Given the description of an element on the screen output the (x, y) to click on. 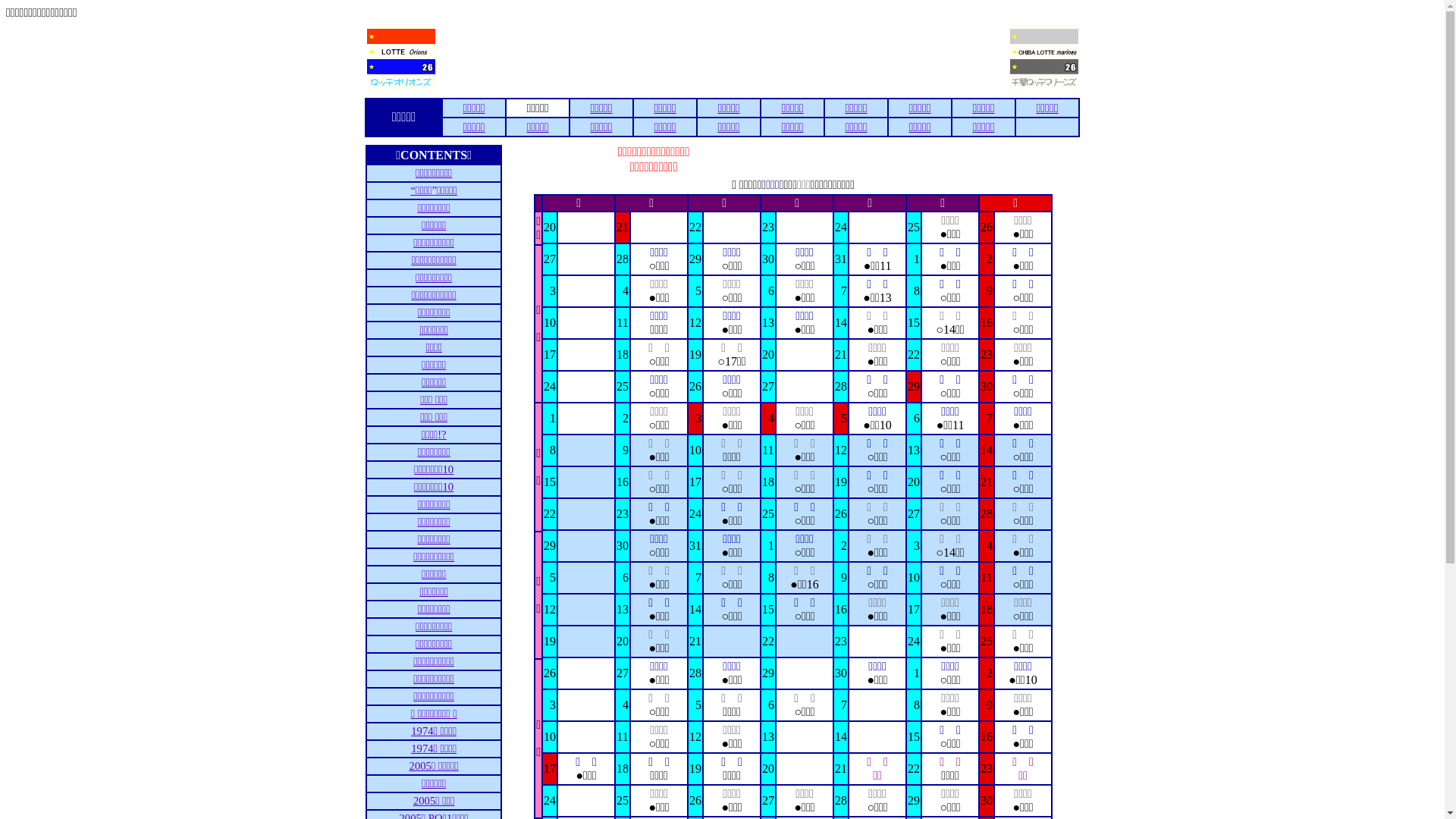
Advertisement Element type: hover (721, 58)
